Given the description of an element on the screen output the (x, y) to click on. 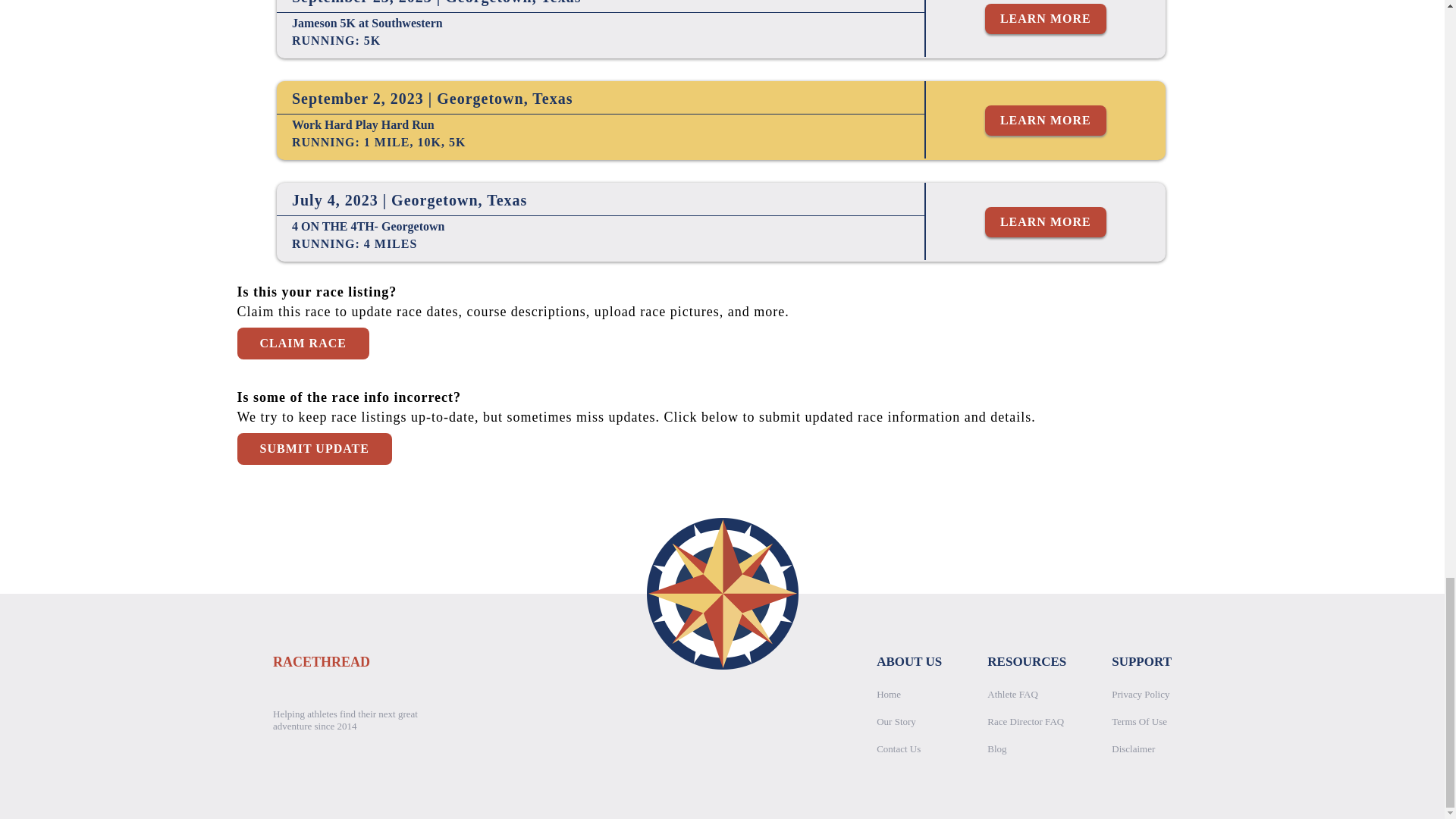
LEARN MORE (1045, 19)
LEARN MORE (1045, 222)
SUBMIT UPDATE (313, 449)
CLAIM RACE (301, 343)
LEARN MORE (1045, 120)
